Given the description of an element on the screen output the (x, y) to click on. 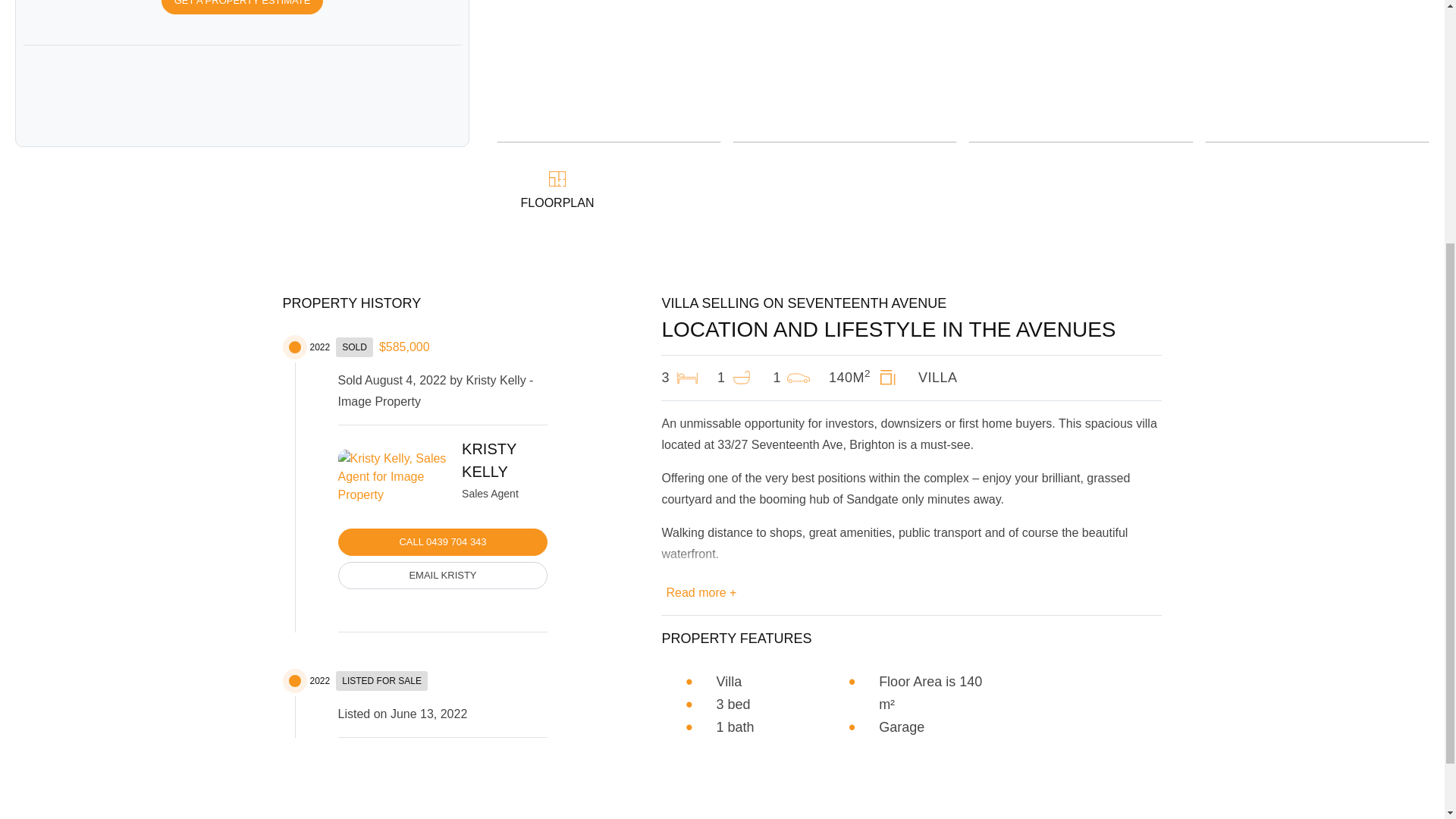
GET A PROPERTY ESTIMATE (242, 7)
